Given the description of an element on the screen output the (x, y) to click on. 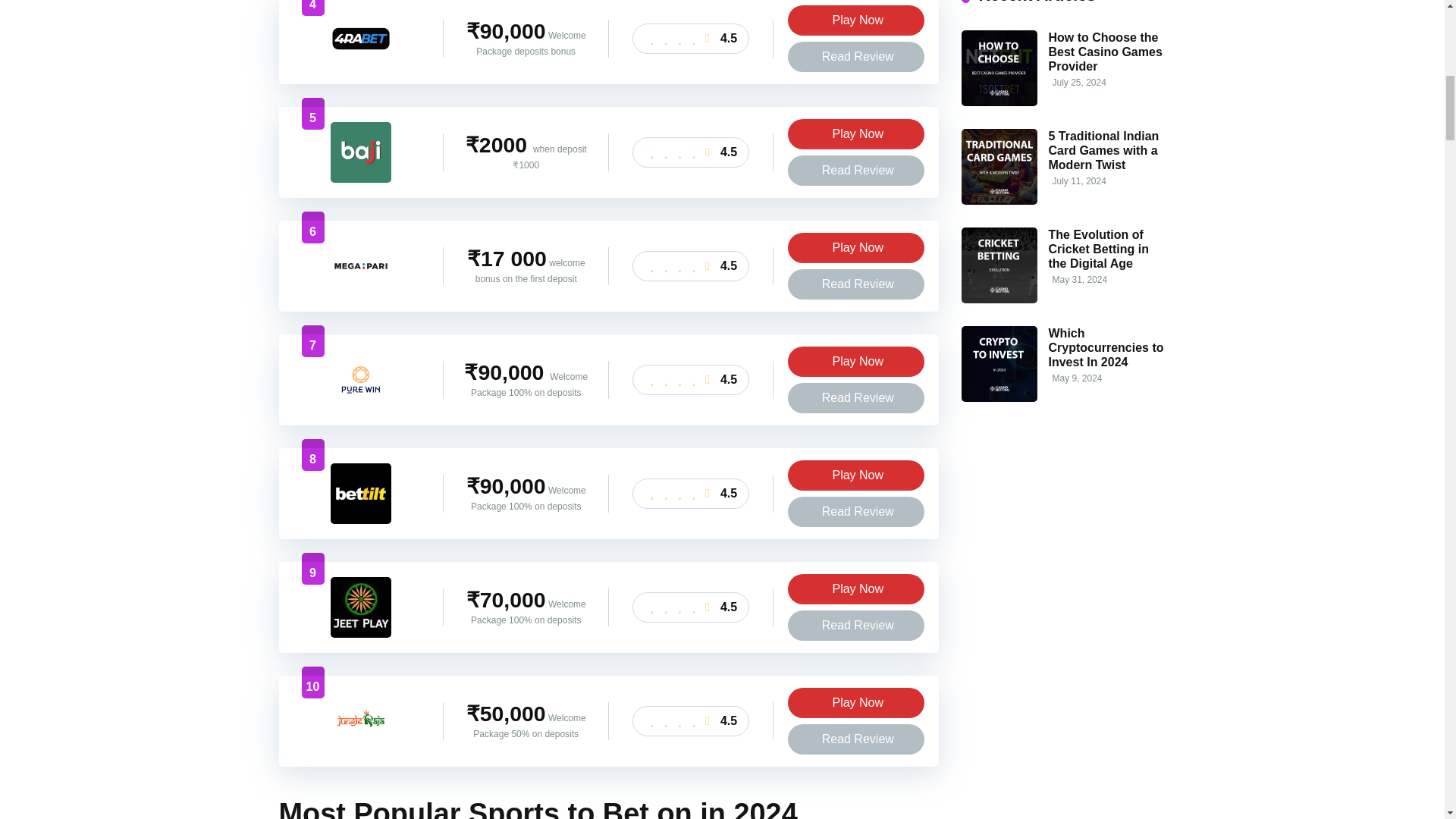
Play Now (855, 20)
4raBet Review (360, 64)
Read Review (855, 56)
